Given the description of an element on the screen output the (x, y) to click on. 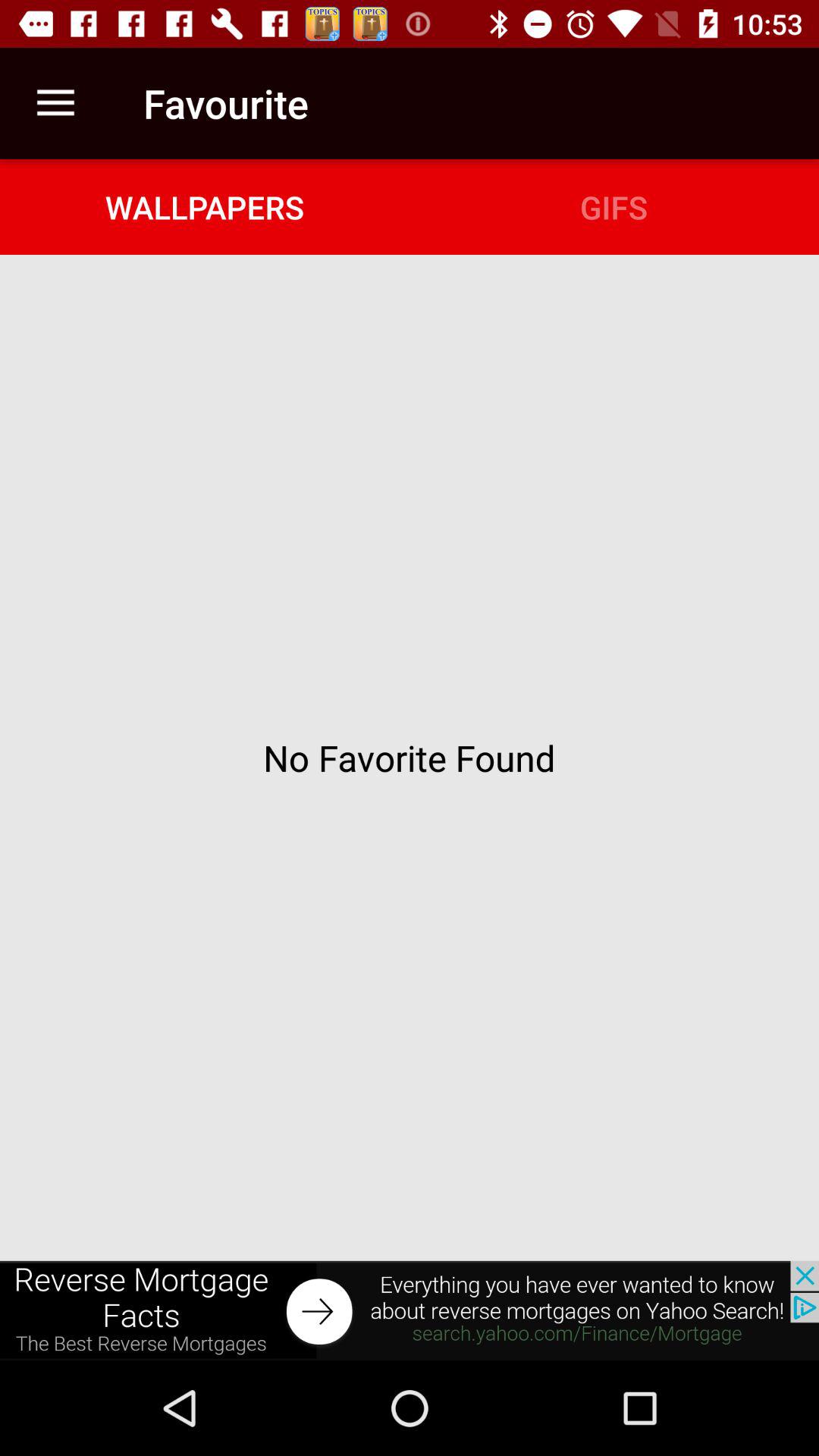
open advertisement (409, 1310)
